Given the description of an element on the screen output the (x, y) to click on. 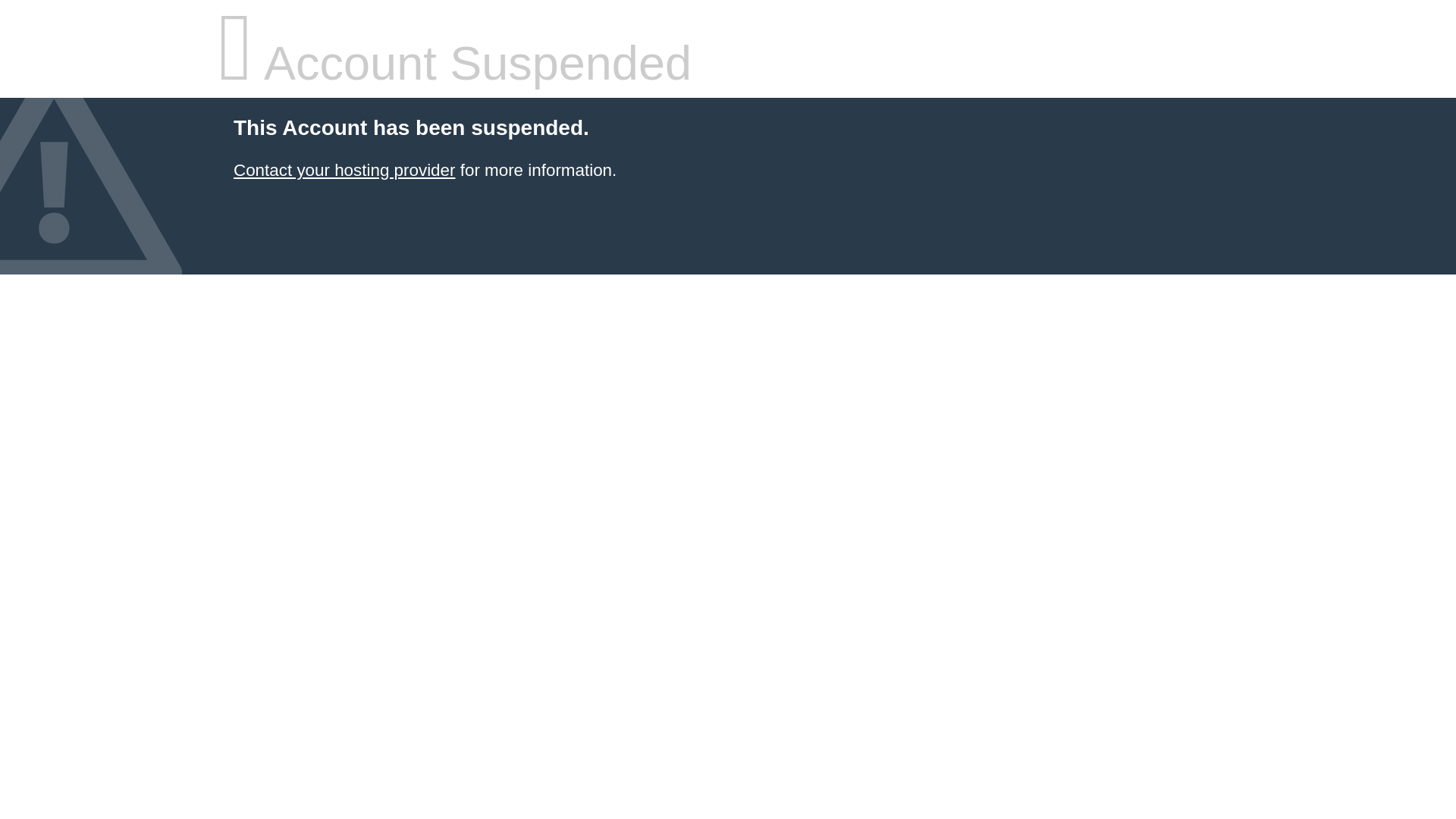
Contact your hosting provider (343, 169)
